Given the description of an element on the screen output the (x, y) to click on. 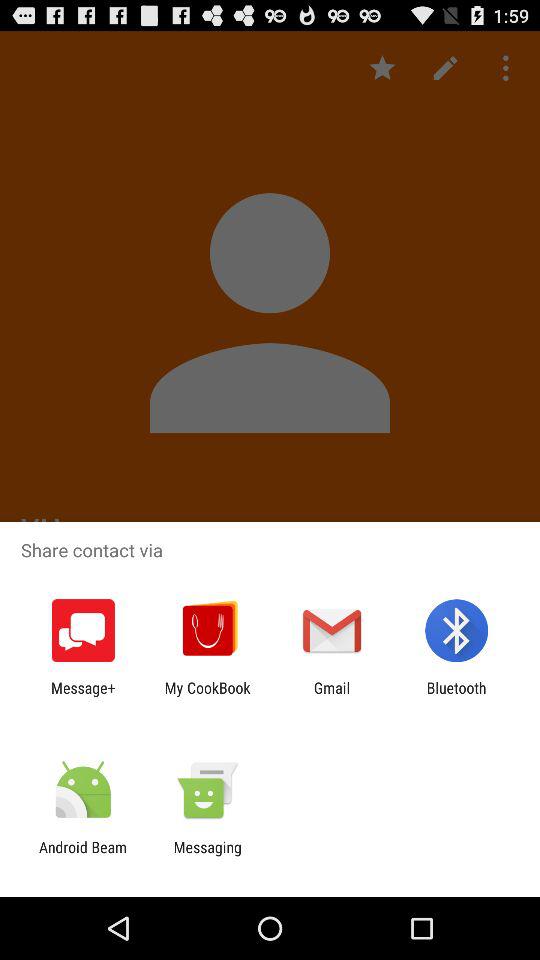
flip until bluetooth app (456, 696)
